Given the description of an element on the screen output the (x, y) to click on. 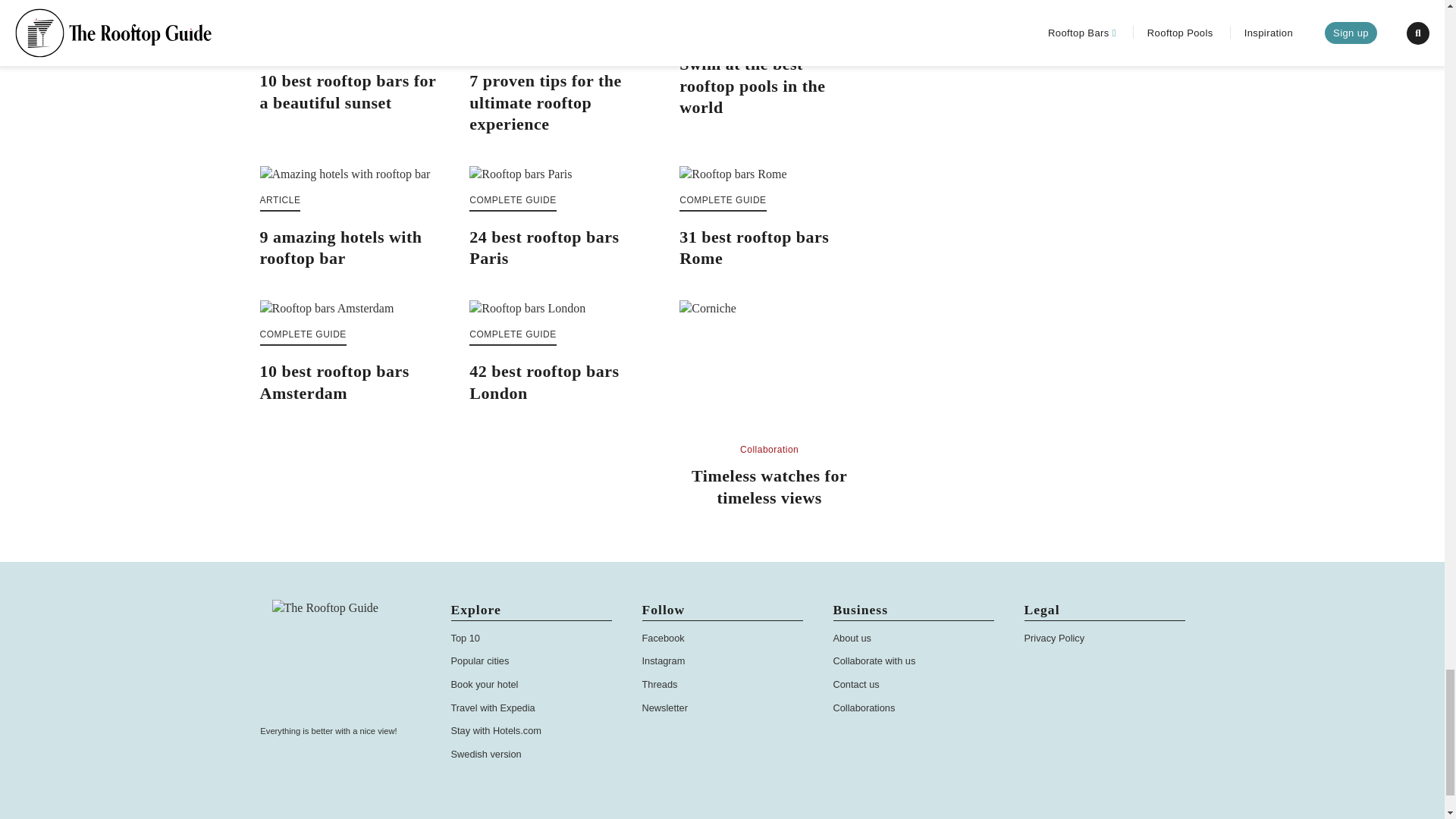
Facebook (663, 637)
Threads (659, 684)
Instagram (663, 660)
Newsletter (664, 707)
